Given the description of an element on the screen output the (x, y) to click on. 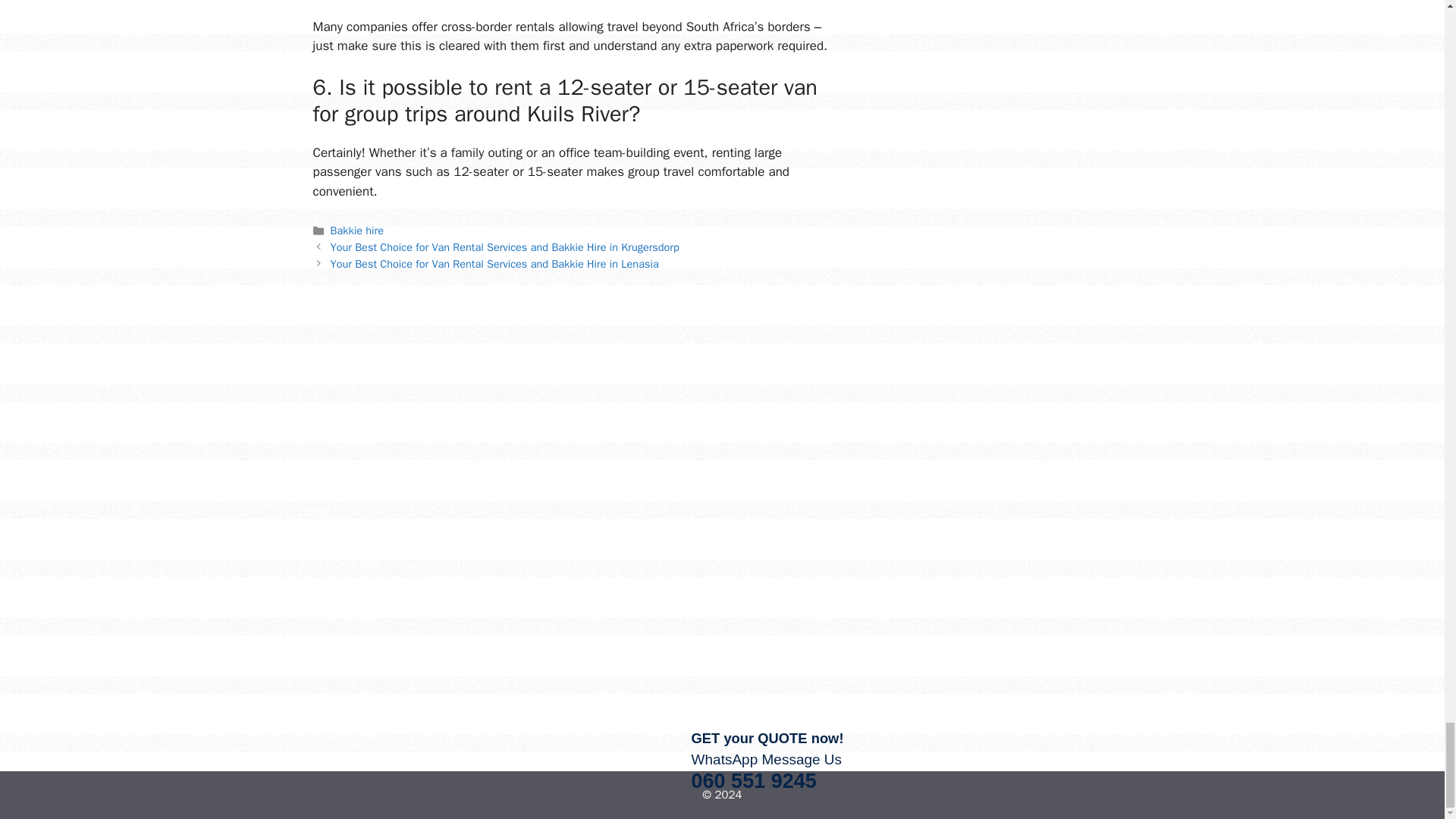
Next (494, 264)
Previous (504, 246)
